Given the description of an element on the screen output the (x, y) to click on. 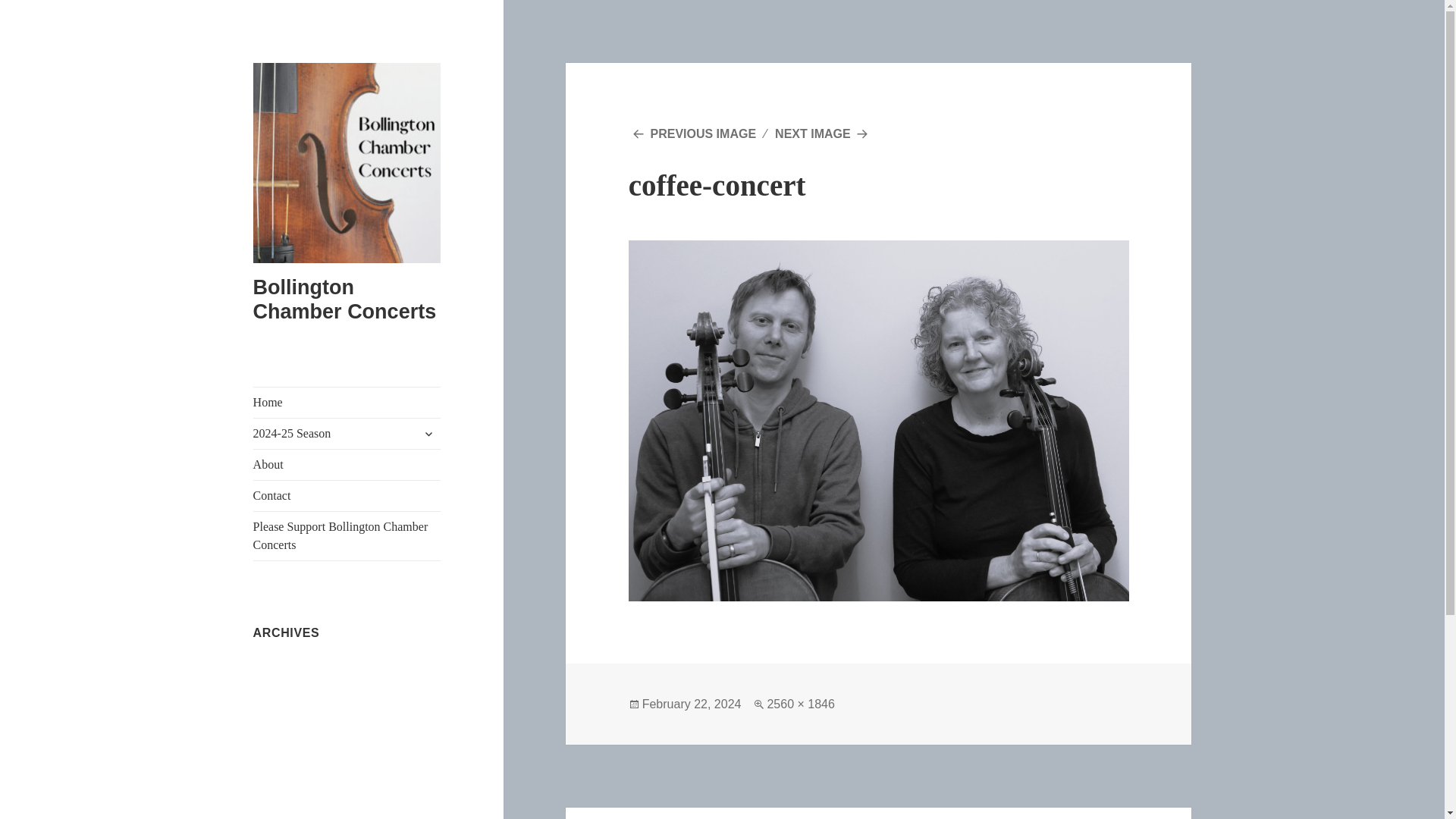
NEXT IMAGE (823, 133)
Contact (347, 495)
Bollington Chamber Concerts (344, 299)
Home (347, 402)
2024-25 Season (878, 813)
expand child menu (347, 433)
About (428, 433)
February 22, 2024 (347, 464)
PREVIOUS IMAGE (691, 704)
Please Support Bollington Chamber Concerts (691, 133)
